Given the description of an element on the screen output the (x, y) to click on. 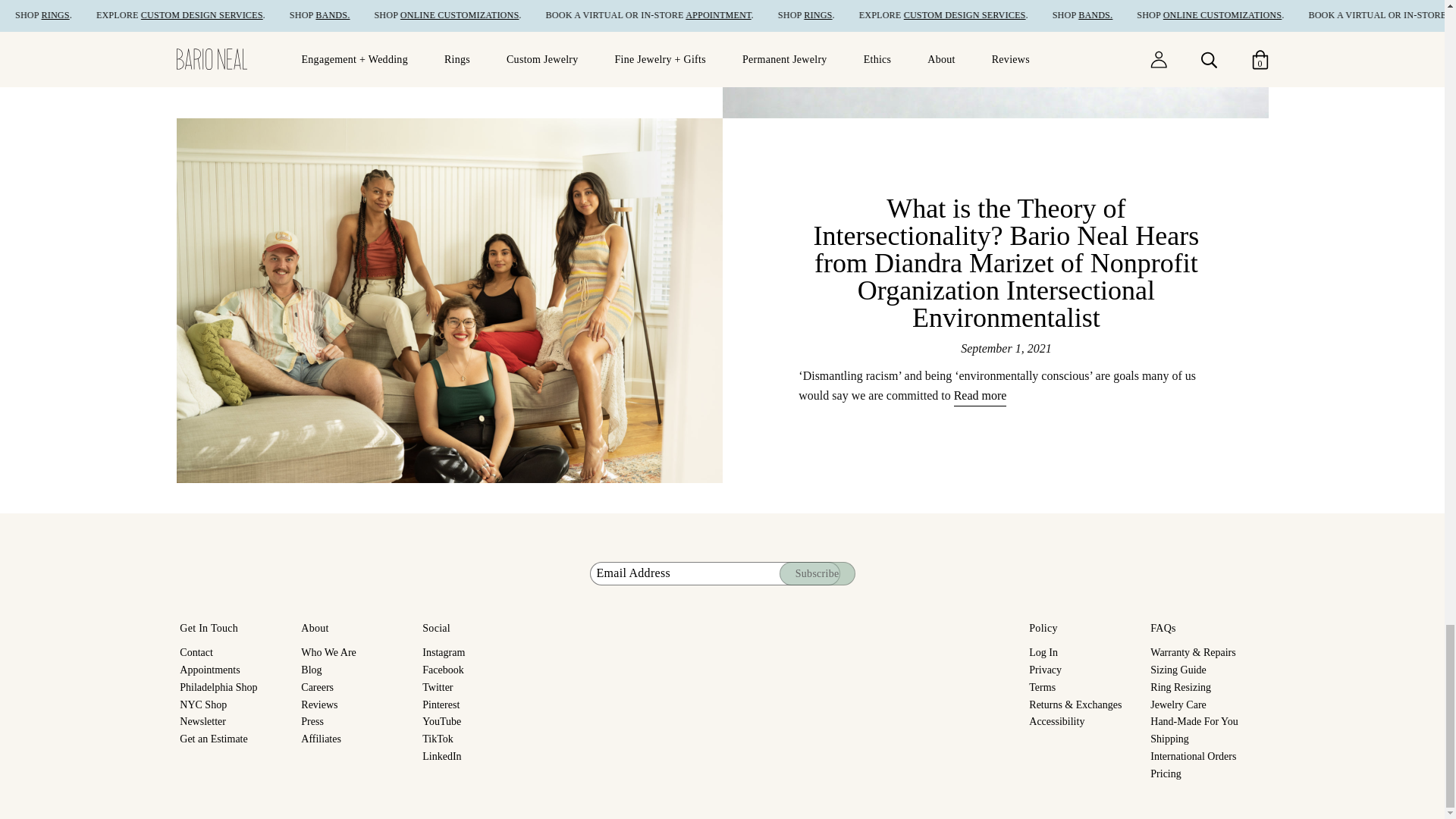
Subscribe (817, 572)
